Given the description of an element on the screen output the (x, y) to click on. 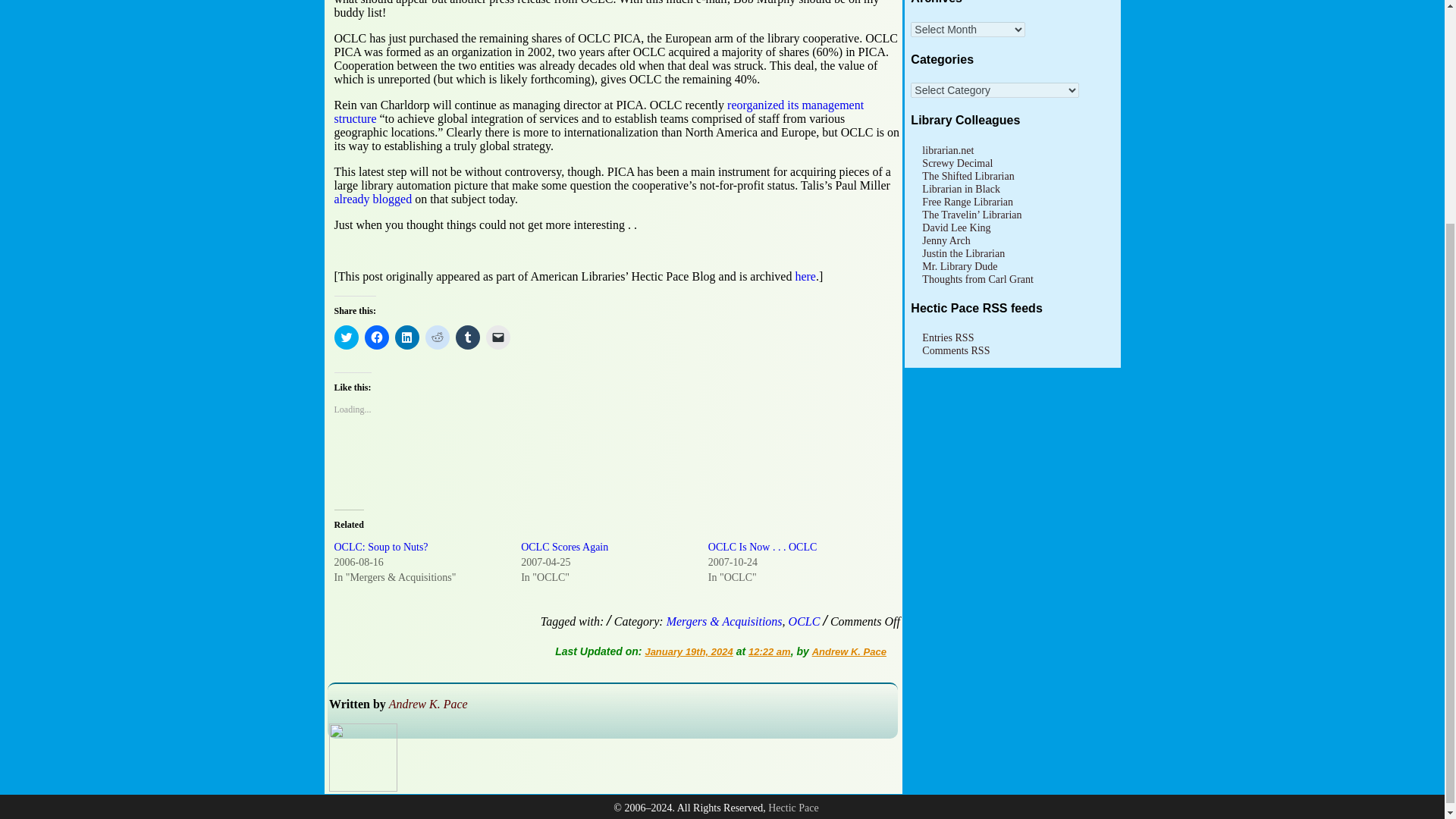
OCLC Scores Again (564, 546)
OCLC (805, 621)
OCLC Is Now . . . OCLC (761, 546)
librarian.net (947, 150)
Free Range Librarian (967, 202)
Comments RSS (955, 350)
OCLC Scores Again (564, 546)
Librarian in Black (960, 188)
The Shifted Librarian (967, 175)
Click to share on Reddit (436, 337)
Hectic Pace (793, 808)
David Lee King (955, 227)
Like or Reblog (616, 464)
Entries RSS (947, 337)
reorganized its management structure (598, 111)
